Given the description of an element on the screen output the (x, y) to click on. 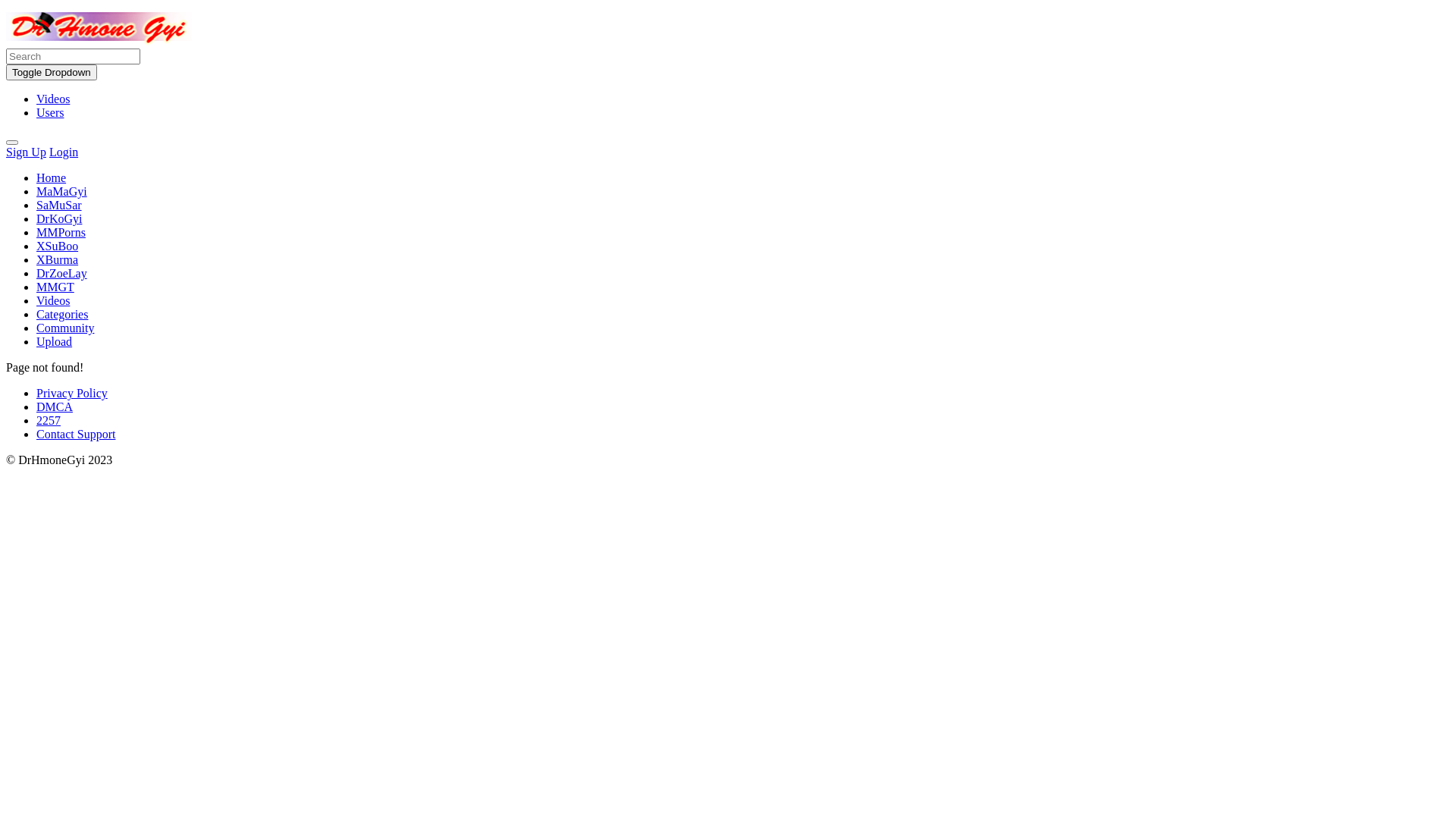
Toggle Dropdown Element type: text (51, 72)
Contact Support Element type: text (75, 433)
MaMaGyi Element type: text (61, 191)
DrZoeLay Element type: text (61, 272)
Sign Up Element type: text (26, 151)
MMPorns Element type: text (60, 231)
Categories Element type: text (61, 313)
DMCA Element type: text (54, 406)
DrKoGyi Element type: text (58, 218)
Videos Element type: text (52, 98)
SaMuSar Element type: text (58, 204)
Privacy Policy Element type: text (71, 392)
Login Element type: text (63, 151)
Users Element type: text (49, 112)
2257 Element type: text (48, 420)
MMGT Element type: text (55, 286)
XBurma Element type: text (57, 259)
Home Element type: text (50, 177)
DrHmoneGyi Element type: hover (98, 40)
Community Element type: text (65, 327)
Upload Element type: text (54, 341)
Videos Element type: text (52, 300)
XSuBoo Element type: text (57, 245)
